Given the description of an element on the screen output the (x, y) to click on. 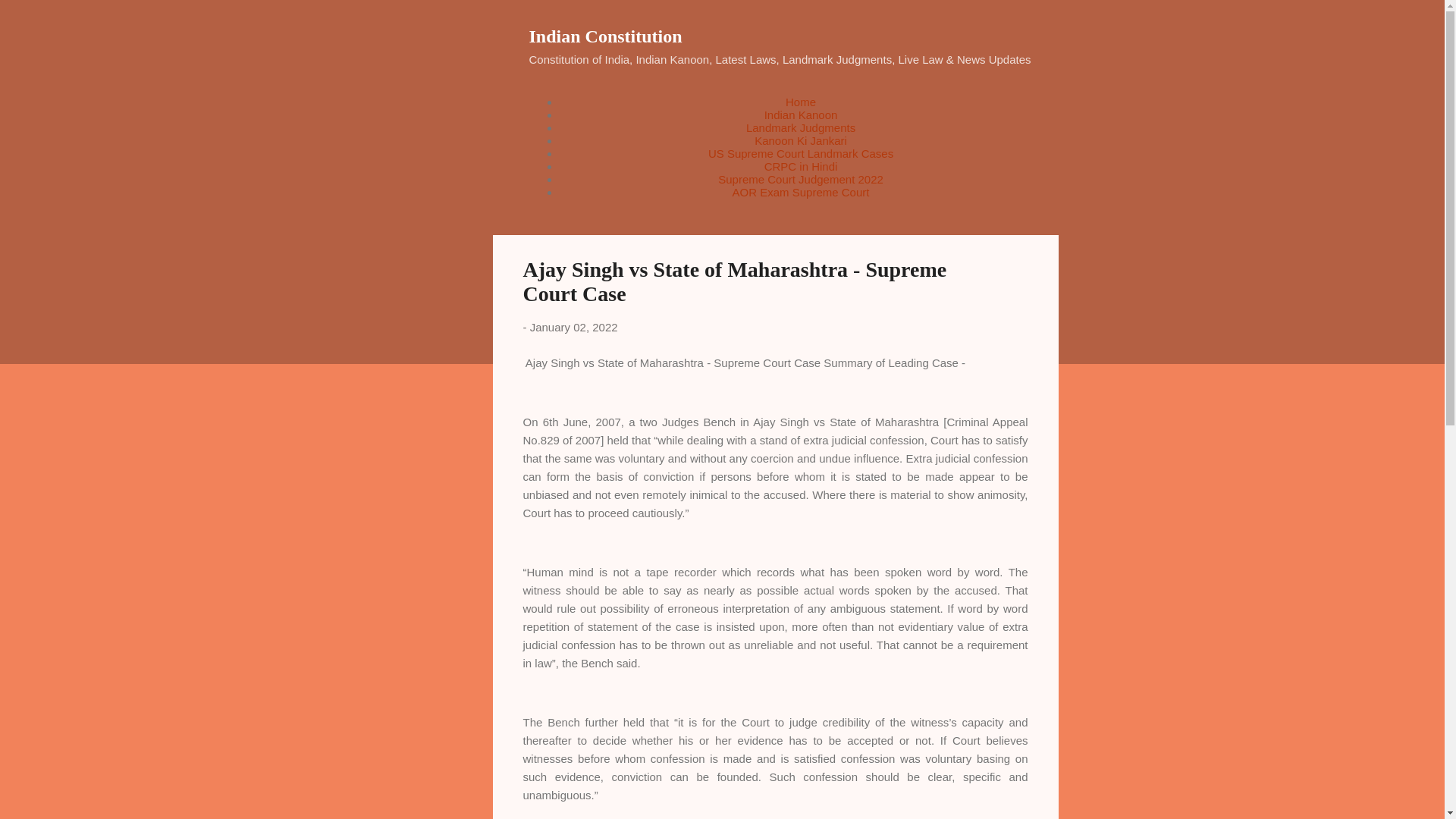
AOR Exam Supreme Court (800, 192)
Indian Constitution (605, 35)
Home (800, 101)
Landmark Judgments (800, 127)
January 02, 2022 (573, 327)
permanent link (573, 327)
CRPC in Hindi (801, 165)
Indian Kanoon (801, 114)
US Supreme Court Landmark Cases (800, 153)
